Given the description of an element on the screen output the (x, y) to click on. 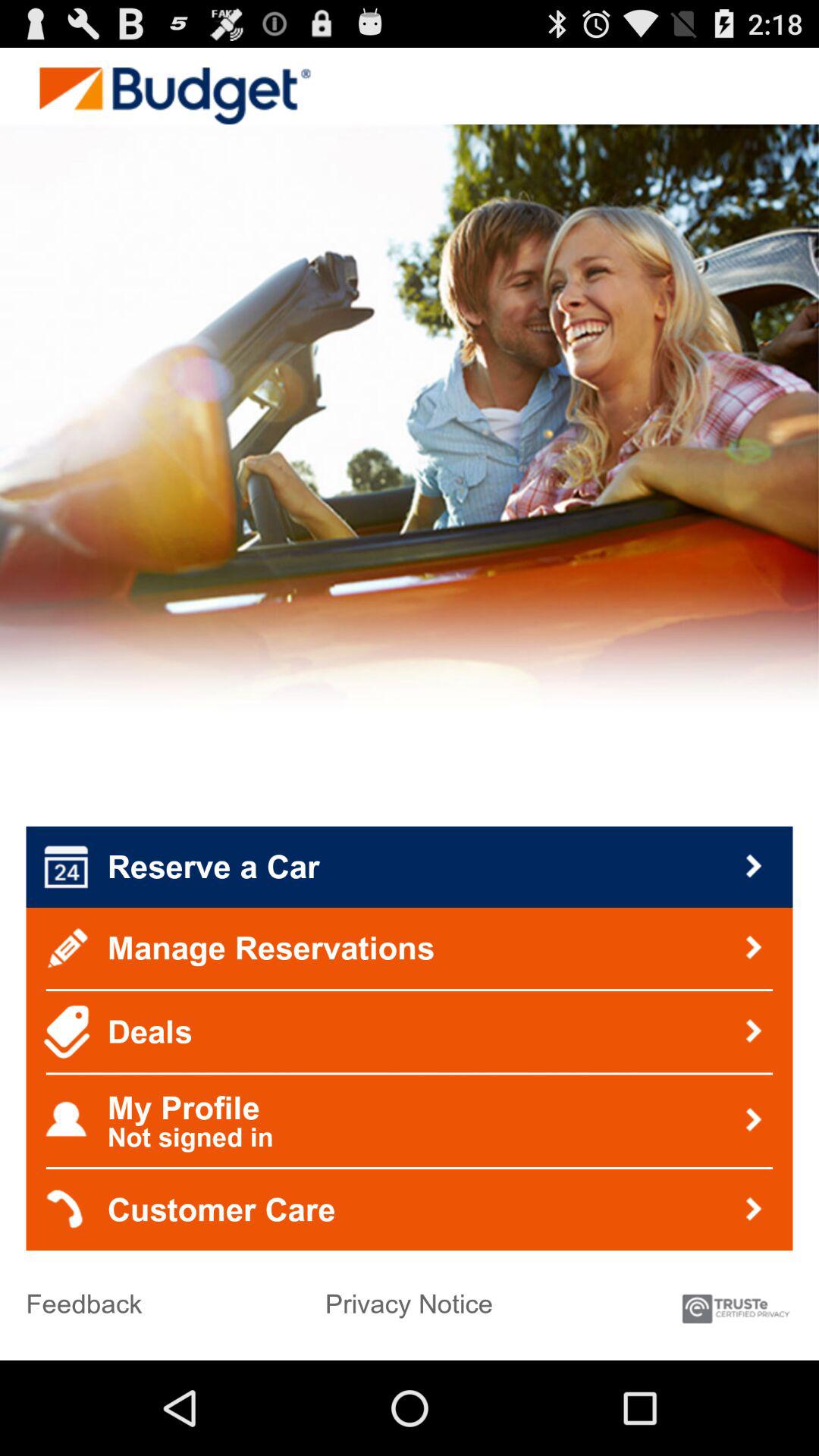
turn on icon to the left of the privacy notice icon (84, 1297)
